Given the description of an element on the screen output the (x, y) to click on. 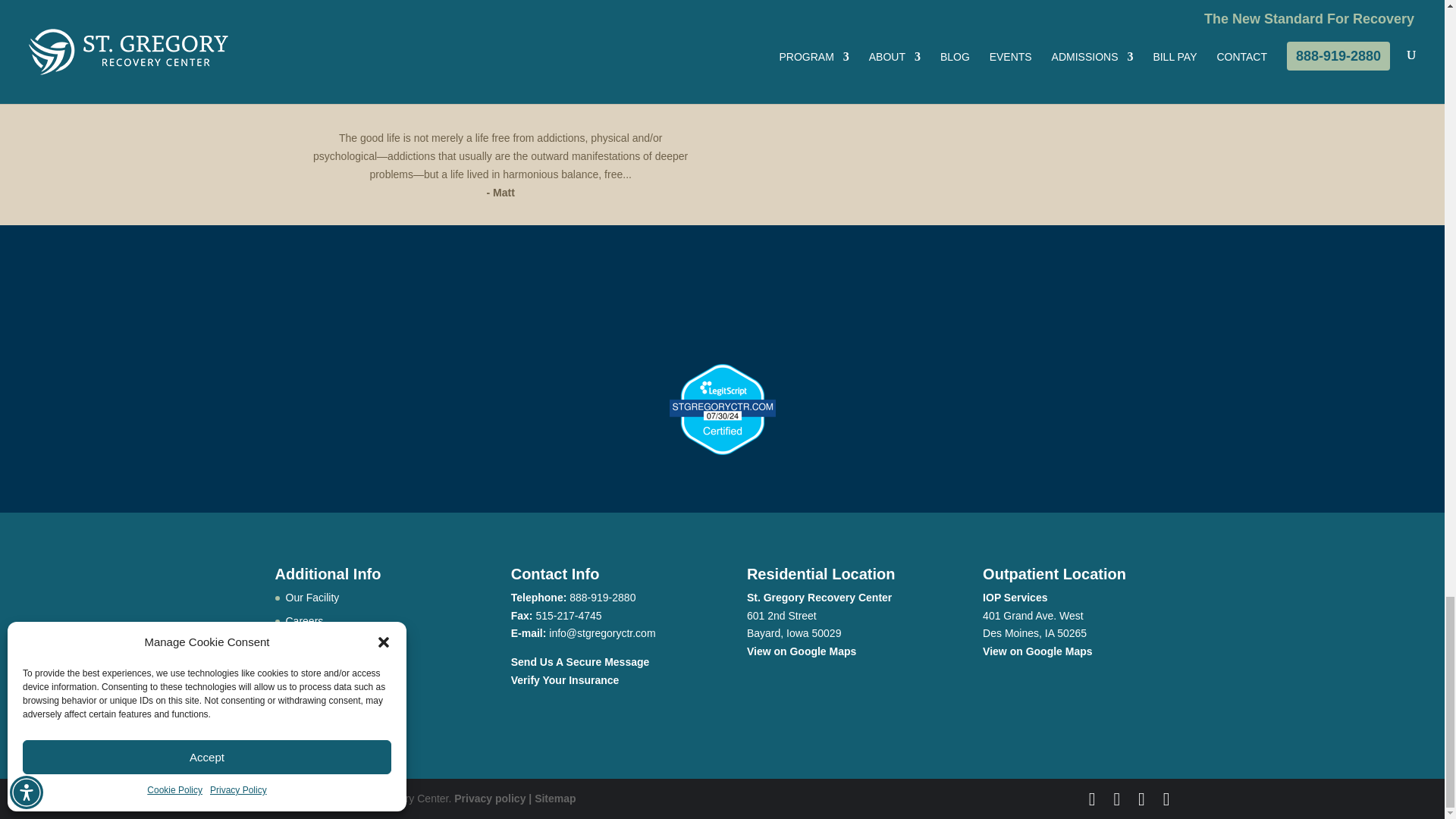
Verify LegitScript Approval (721, 451)
